Given the description of an element on the screen output the (x, y) to click on. 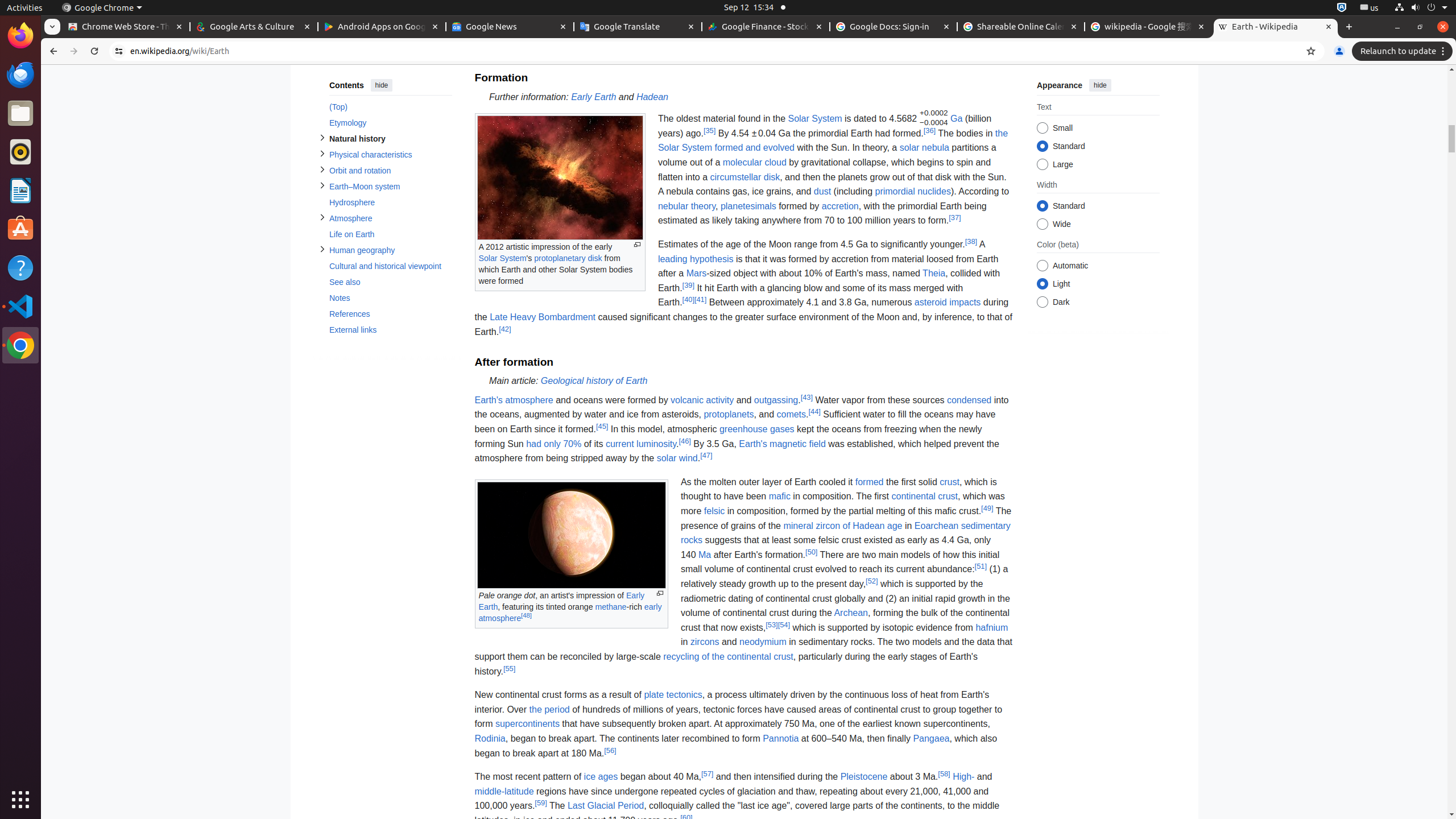
Eoarchean Element type: link (935, 525)
neodymium Element type: link (762, 642)
dust Element type: link (822, 191)
early atmosphere Element type: link (570, 612)
had only 70% Element type: link (553, 443)
